Given the description of an element on the screen output the (x, y) to click on. 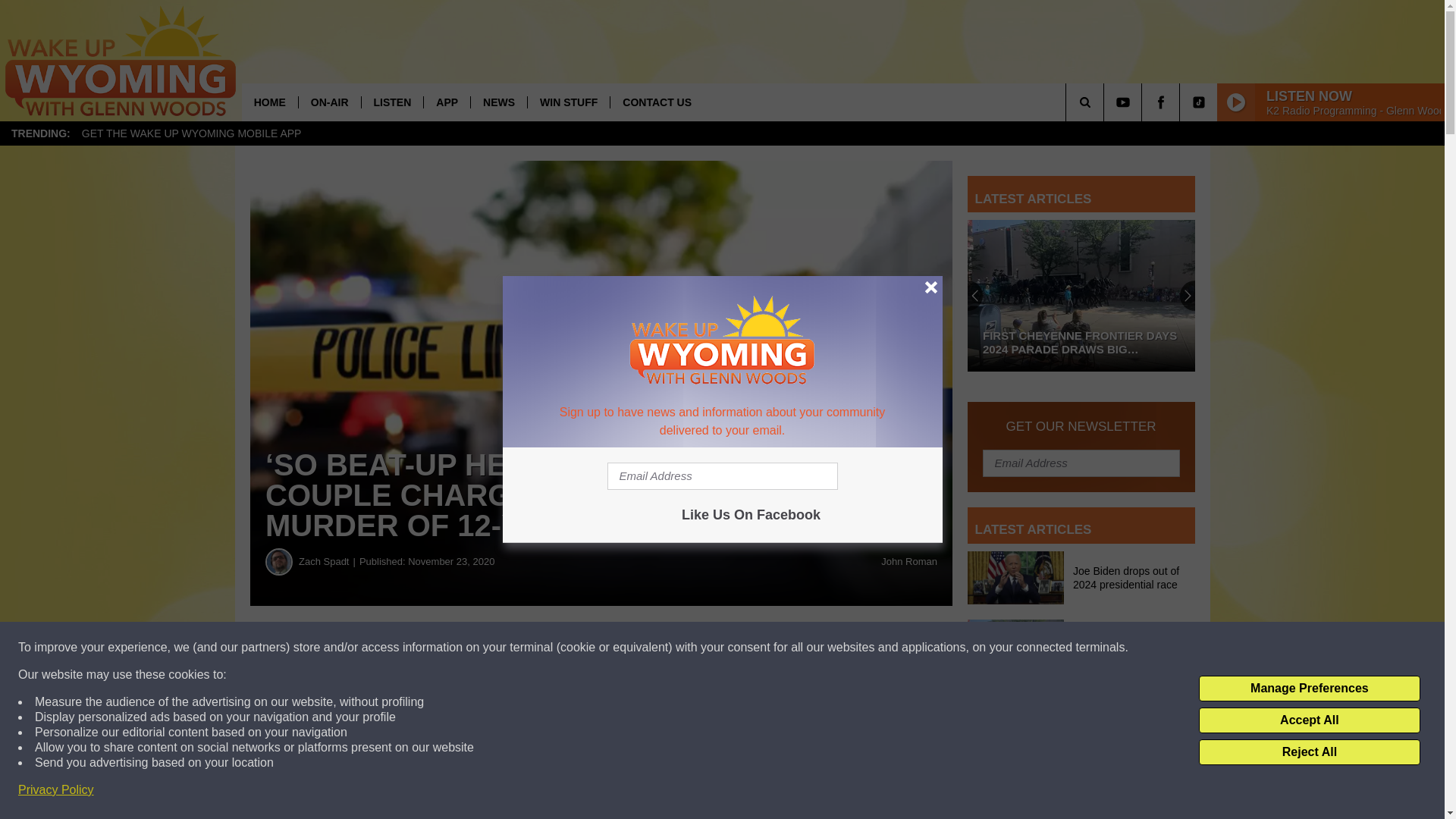
Share on Facebook (460, 647)
SEARCH (1106, 102)
Privacy Policy (55, 789)
ON-AIR (329, 102)
GET THE WAKE UP WYOMING MOBILE APP (191, 133)
Share on Twitter (741, 647)
Email Address (1080, 461)
Email Address (722, 475)
WIN STUFF (568, 102)
Accept All (1309, 720)
CONTACT US (656, 102)
LISTEN (392, 102)
APP (446, 102)
HOME (269, 102)
SEARCH (1106, 102)
